Given the description of an element on the screen output the (x, y) to click on. 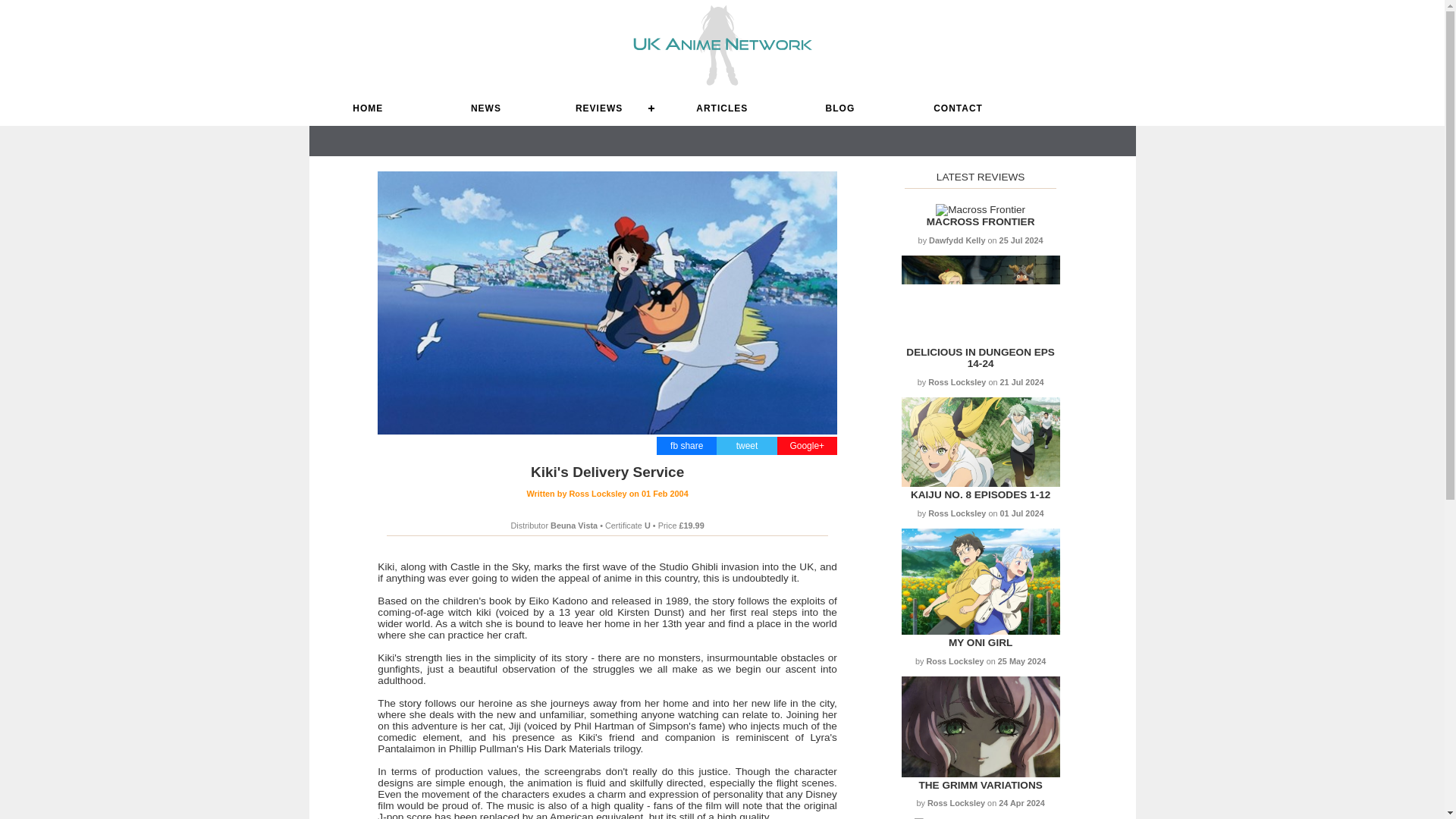
My Oni Girl (980, 642)
MY ONI GIRL (980, 642)
tweet (747, 445)
CONTACT (958, 108)
NEWS (485, 108)
Macross Frontier (980, 221)
The Grimm Variations (980, 773)
ARTICLES (721, 108)
My Oni Girl (980, 631)
Delicious in Dungeon eps 14-24 (979, 357)
Kaiju No. 8 Episodes 1-12 (980, 494)
REVIEWS (603, 108)
fb share (686, 445)
Ross Locksley (606, 492)
